Given the description of an element on the screen output the (x, y) to click on. 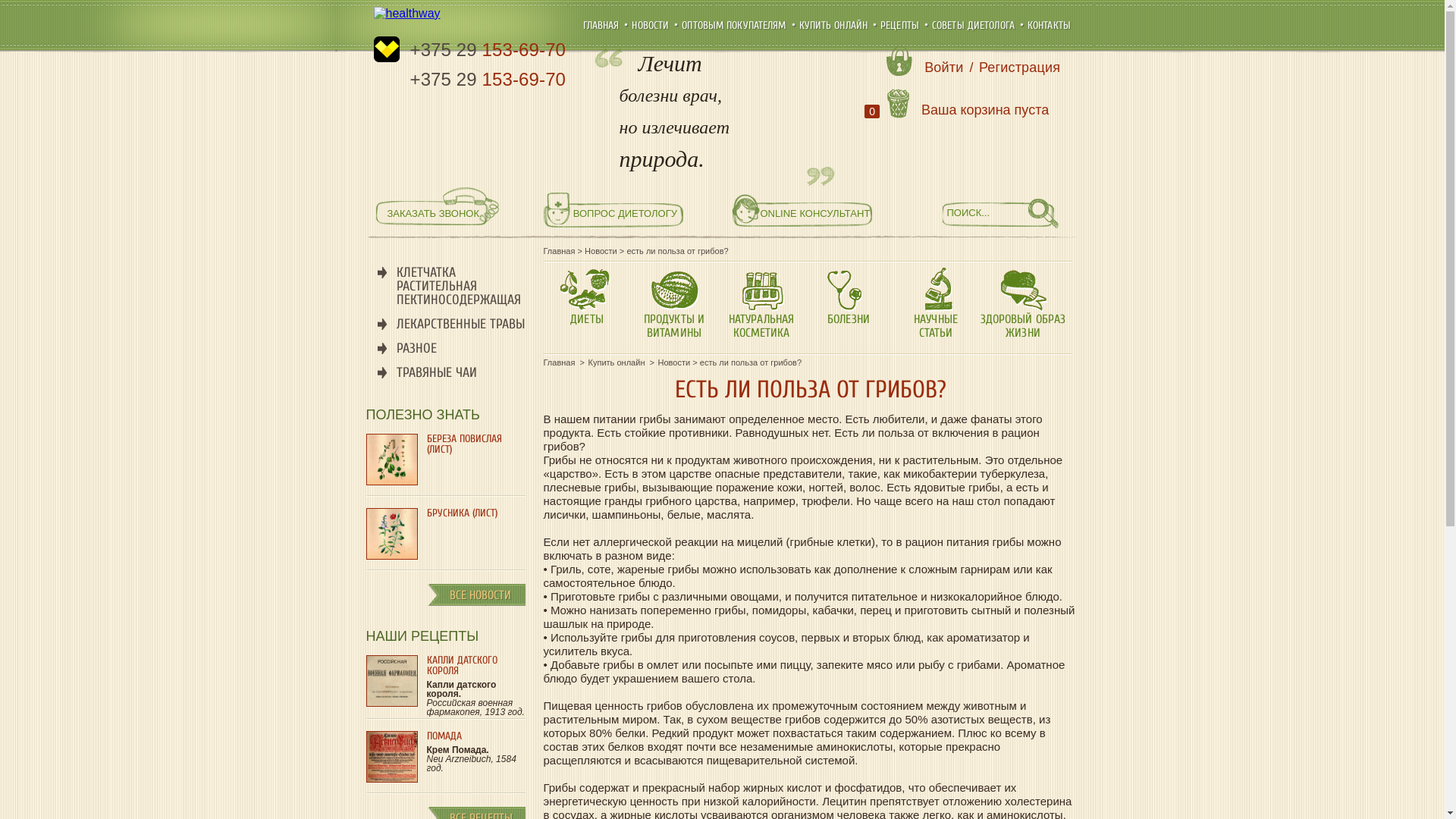
+375 29 153-69-70 Element type: text (487, 78)
+375 29 153-69-70 Element type: text (487, 49)
